Given the description of an element on the screen output the (x, y) to click on. 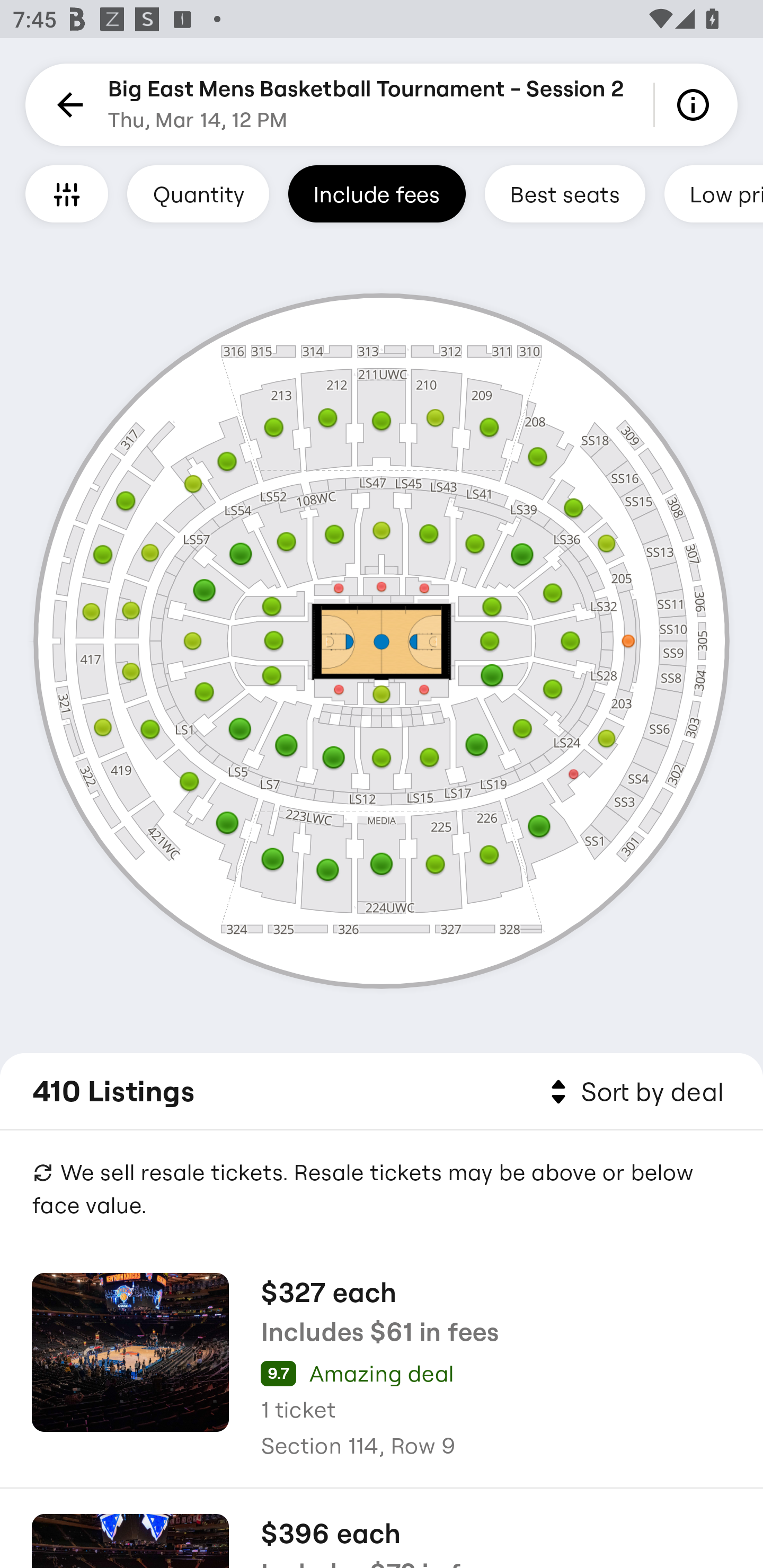
Back (66, 104)
Info (695, 104)
Filters and Accessible Seating (66, 193)
Quantity (198, 193)
Include fees (376, 193)
Best seats (564, 193)
Sort by deal (633, 1091)
